Given the description of an element on the screen output the (x, y) to click on. 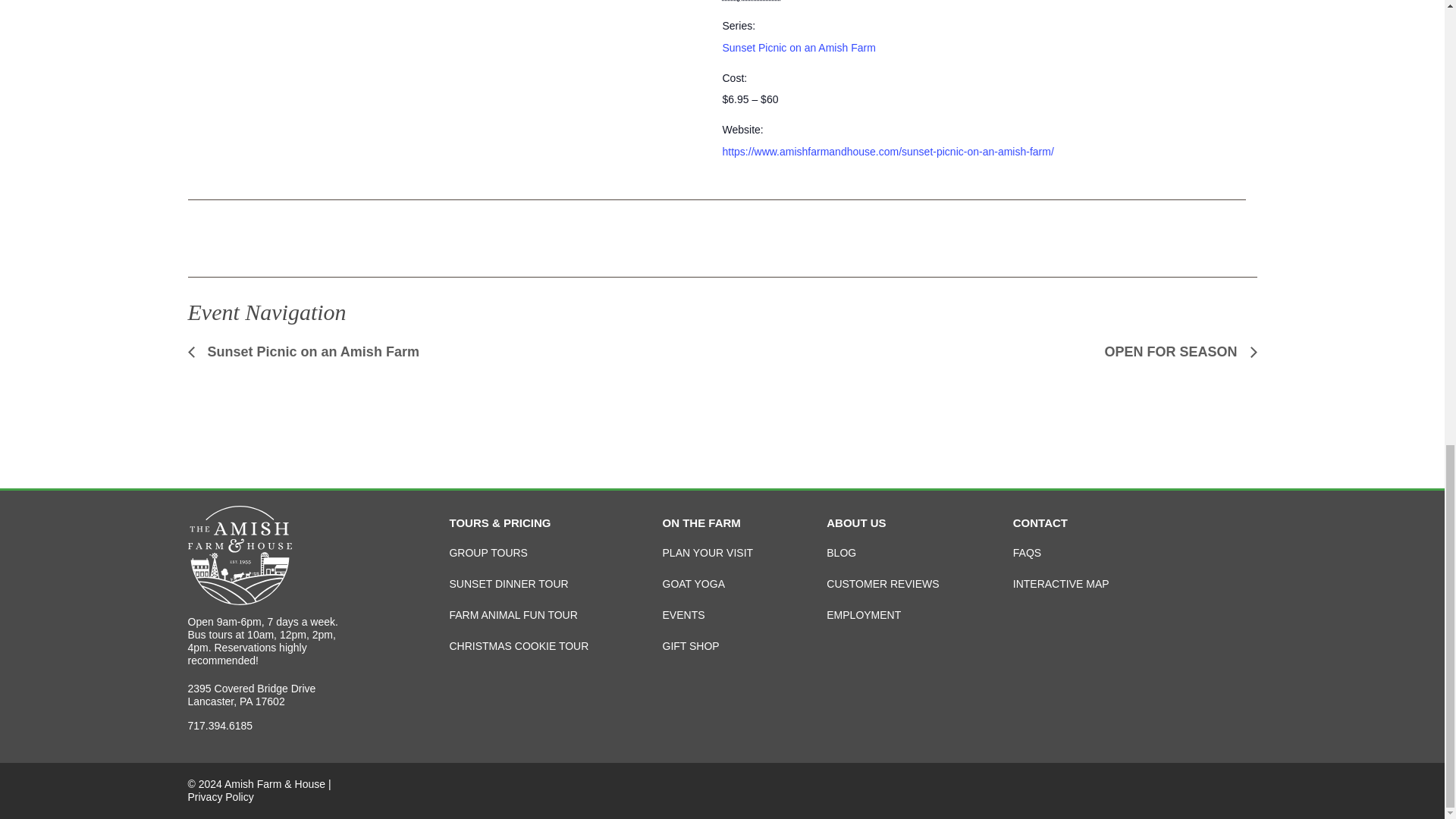
LOGO (239, 555)
2022-05-07 (751, 0)
Sunset Picnic on an Amish Farm (798, 47)
